Given the description of an element on the screen output the (x, y) to click on. 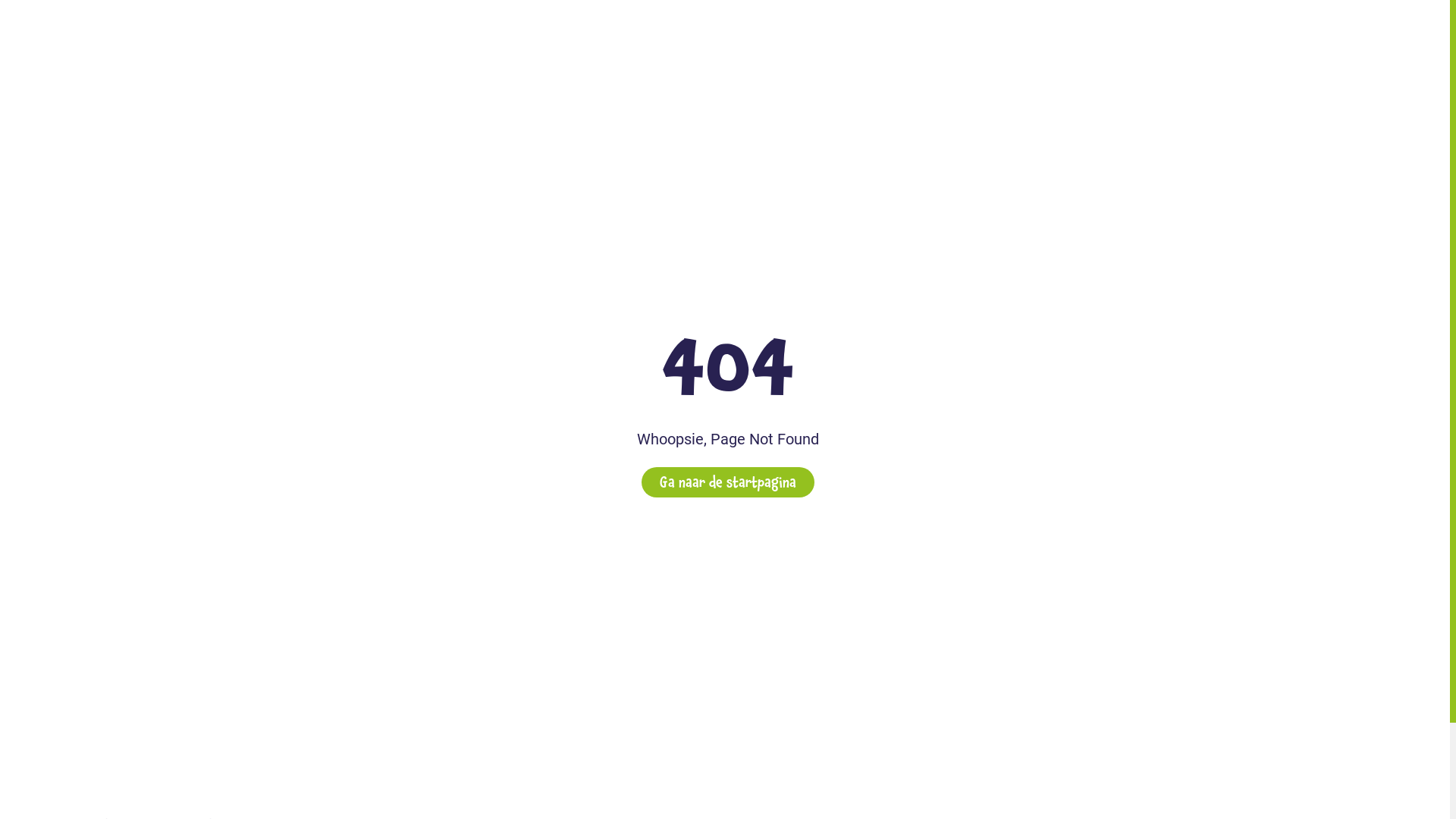
Ga naar de startpagina Element type: text (727, 482)
